Given the description of an element on the screen output the (x, y) to click on. 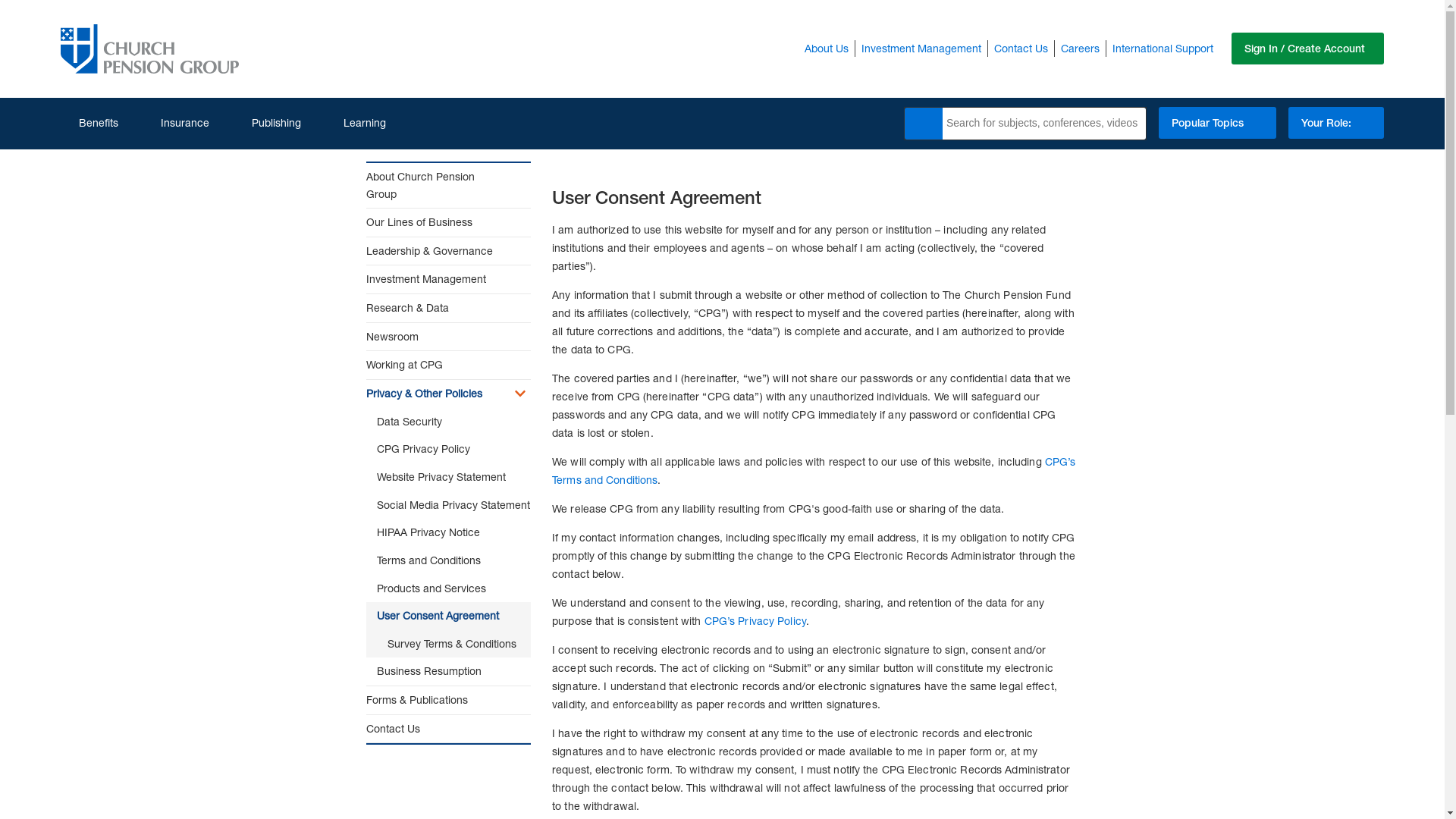
Investment Management (921, 48)
Learning (354, 123)
Careers (1079, 48)
Benefits (89, 123)
Publishing (266, 123)
Insurance (175, 123)
Header Logo (149, 48)
Learning (354, 123)
International Support (1163, 48)
Insurance (175, 123)
Careers (1079, 48)
Investment Management (921, 48)
About Us (825, 48)
About Church Pension Group (433, 185)
Contact Us (1021, 48)
